Given the description of an element on the screen output the (x, y) to click on. 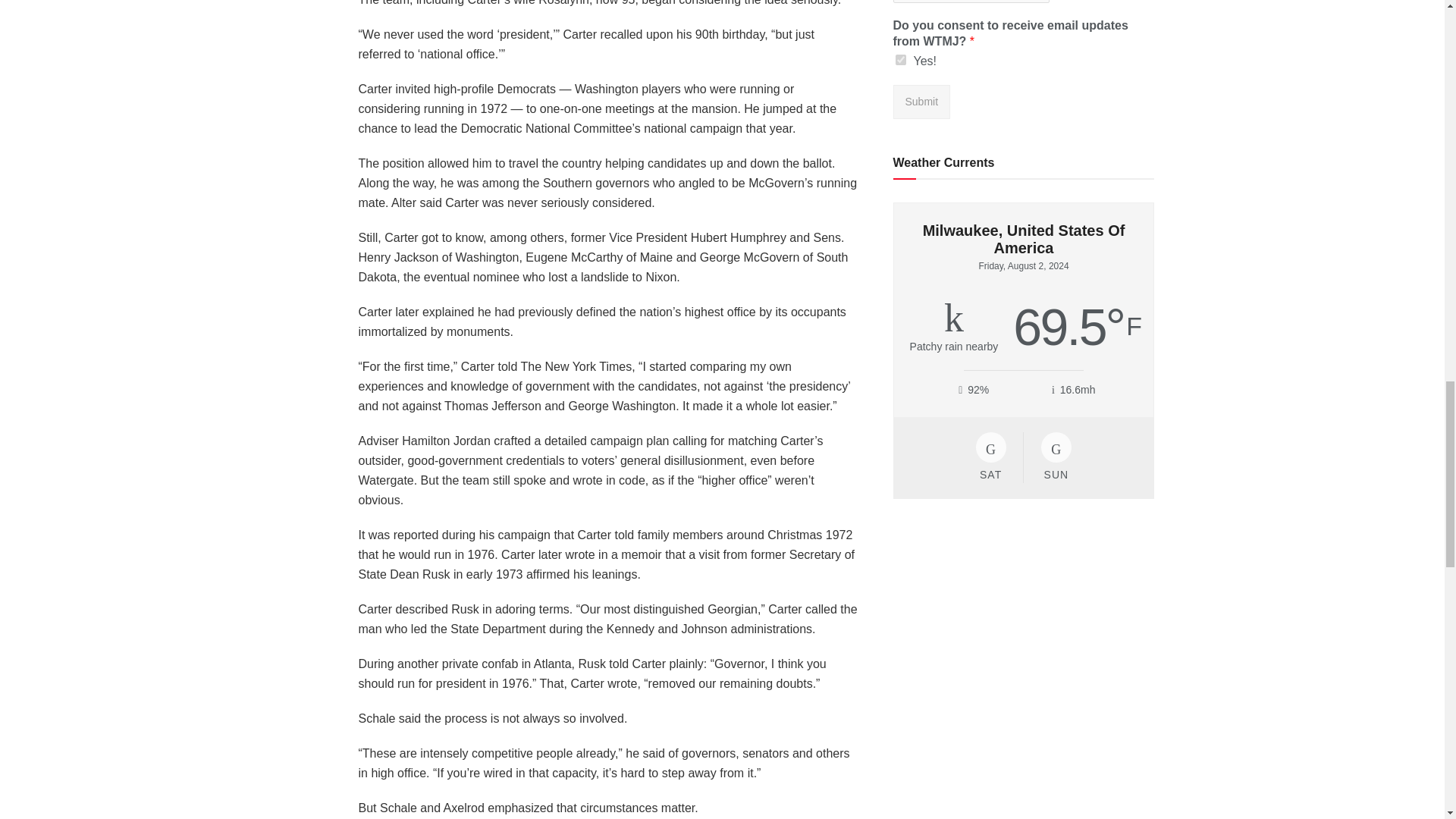
Yes! (900, 59)
